Given the description of an element on the screen output the (x, y) to click on. 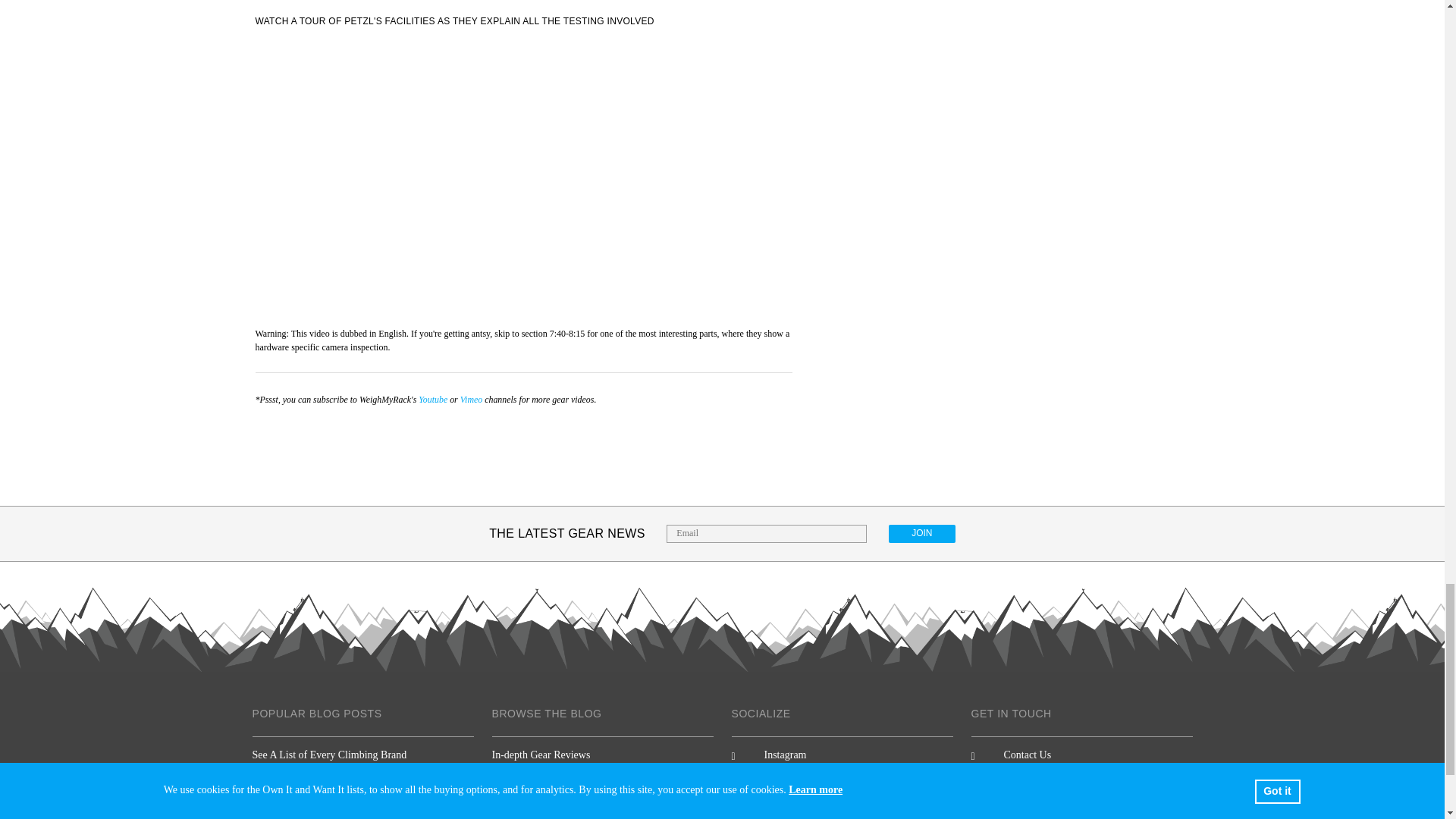
JOIN (921, 533)
